Given the description of an element on the screen output the (x, y) to click on. 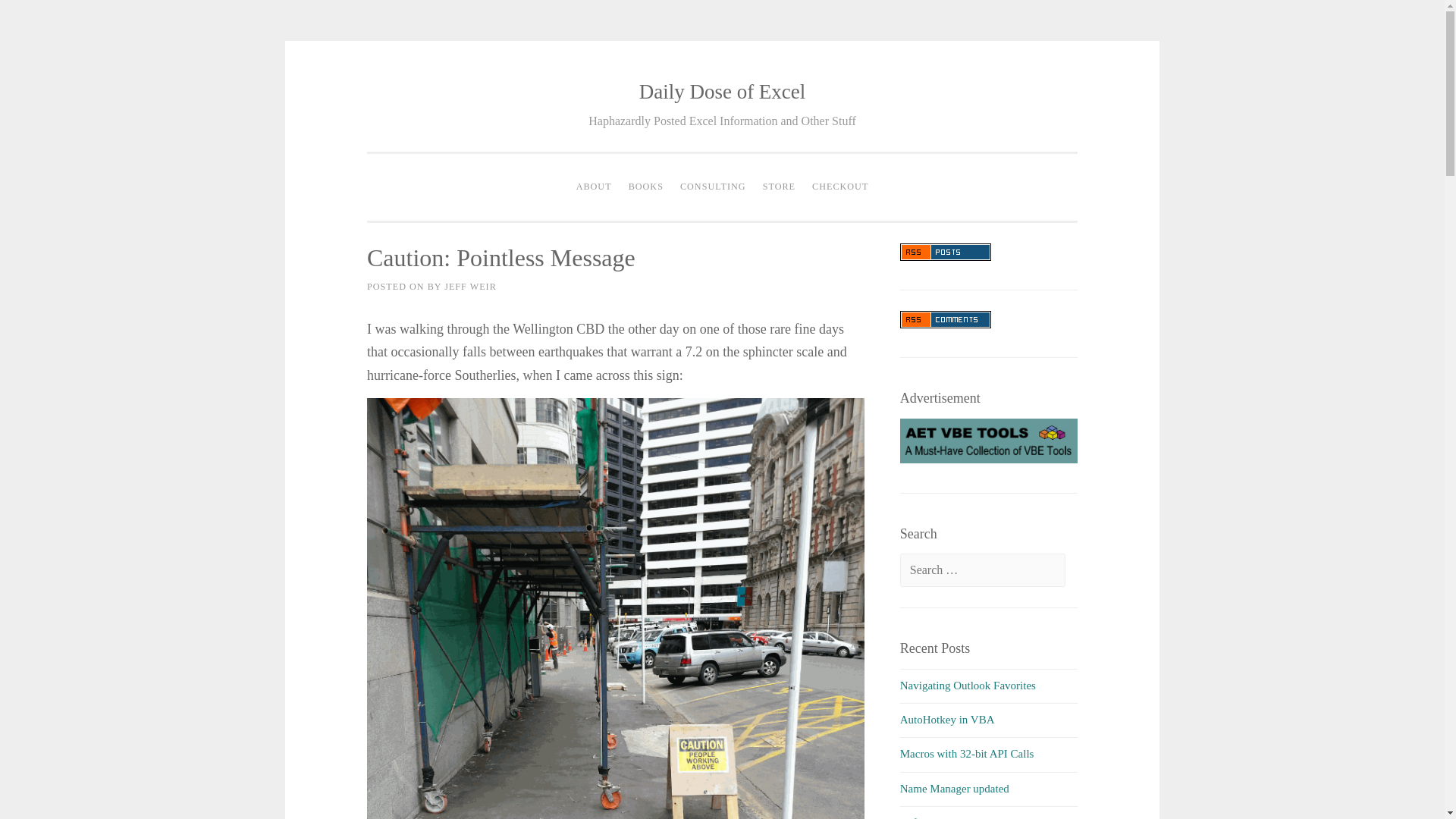
Daily Dose of Excel (722, 91)
CONSULTING (712, 186)
Name Manager updated (954, 788)
Daily Dose of Excel (722, 91)
Search (39, 16)
Macros with 32-bit API Calls (966, 753)
CHECKOUT (840, 186)
JEFF WEIR (470, 286)
AutoHotkey in VBA (946, 719)
